Given the description of an element on the screen output the (x, y) to click on. 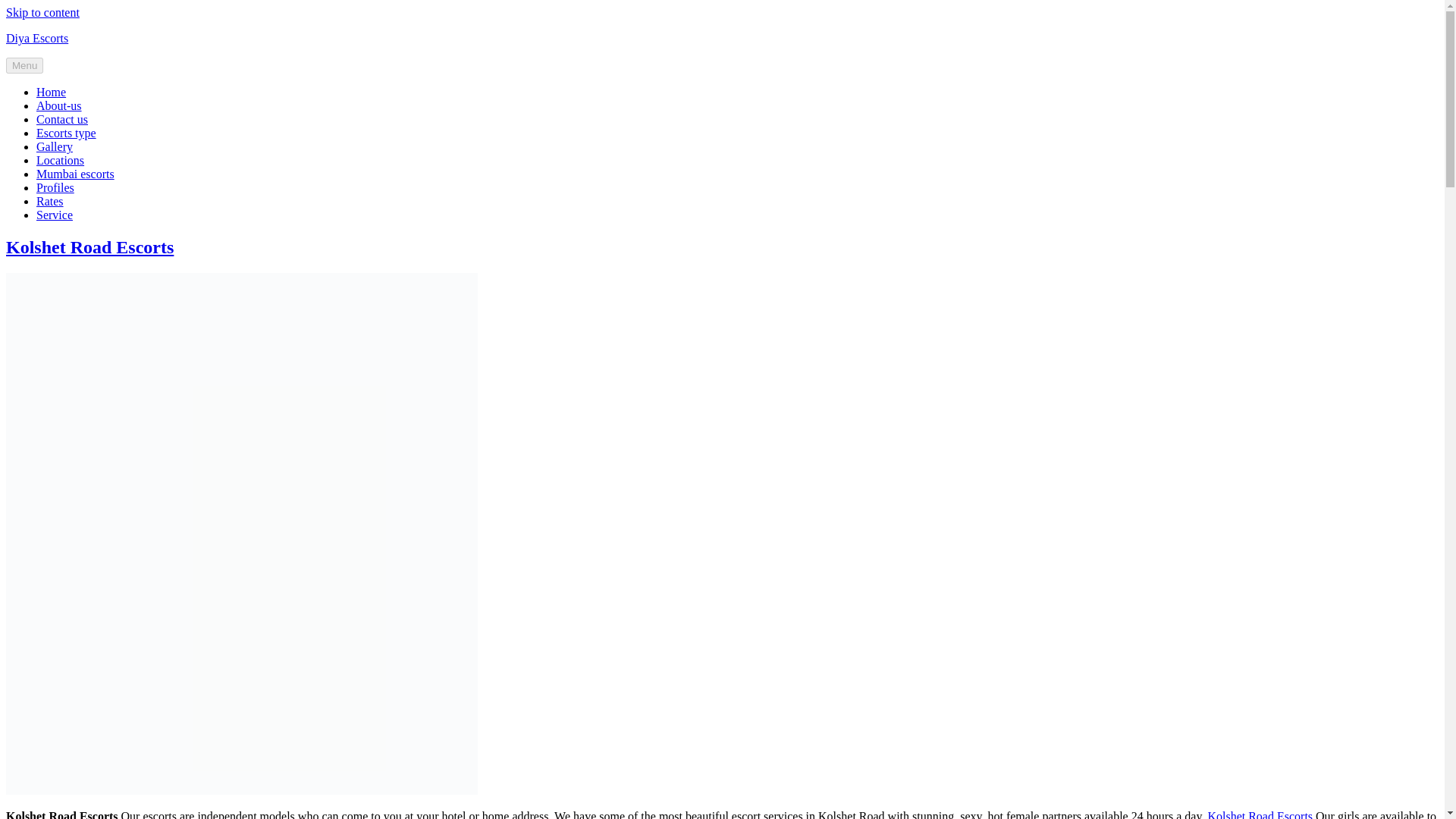
Service (54, 214)
Escorts type (66, 132)
About-us (58, 105)
Kolshet Road Escorts (89, 247)
Mumbai escorts (75, 173)
Gallery (54, 146)
Kolshet Road Escorts (1260, 814)
Permanent Link to Kolshet Road Escorts (241, 789)
Diya Escorts (36, 38)
